Given the description of an element on the screen output the (x, y) to click on. 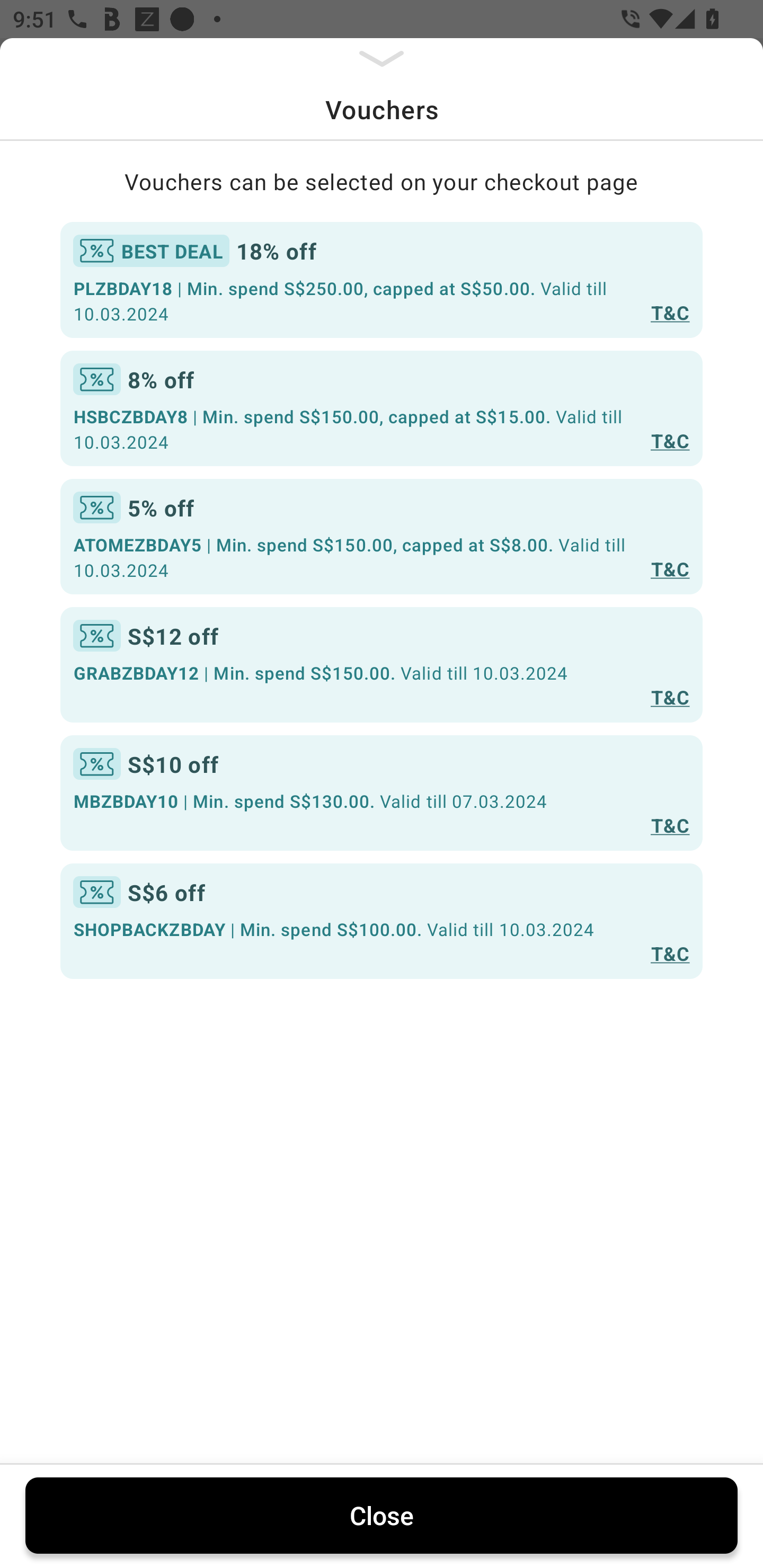
T&C (669, 311)
T&C (669, 440)
T&C (669, 568)
T&C (669, 696)
T&C (669, 824)
T&C (669, 952)
Close (381, 1515)
